Given the description of an element on the screen output the (x, y) to click on. 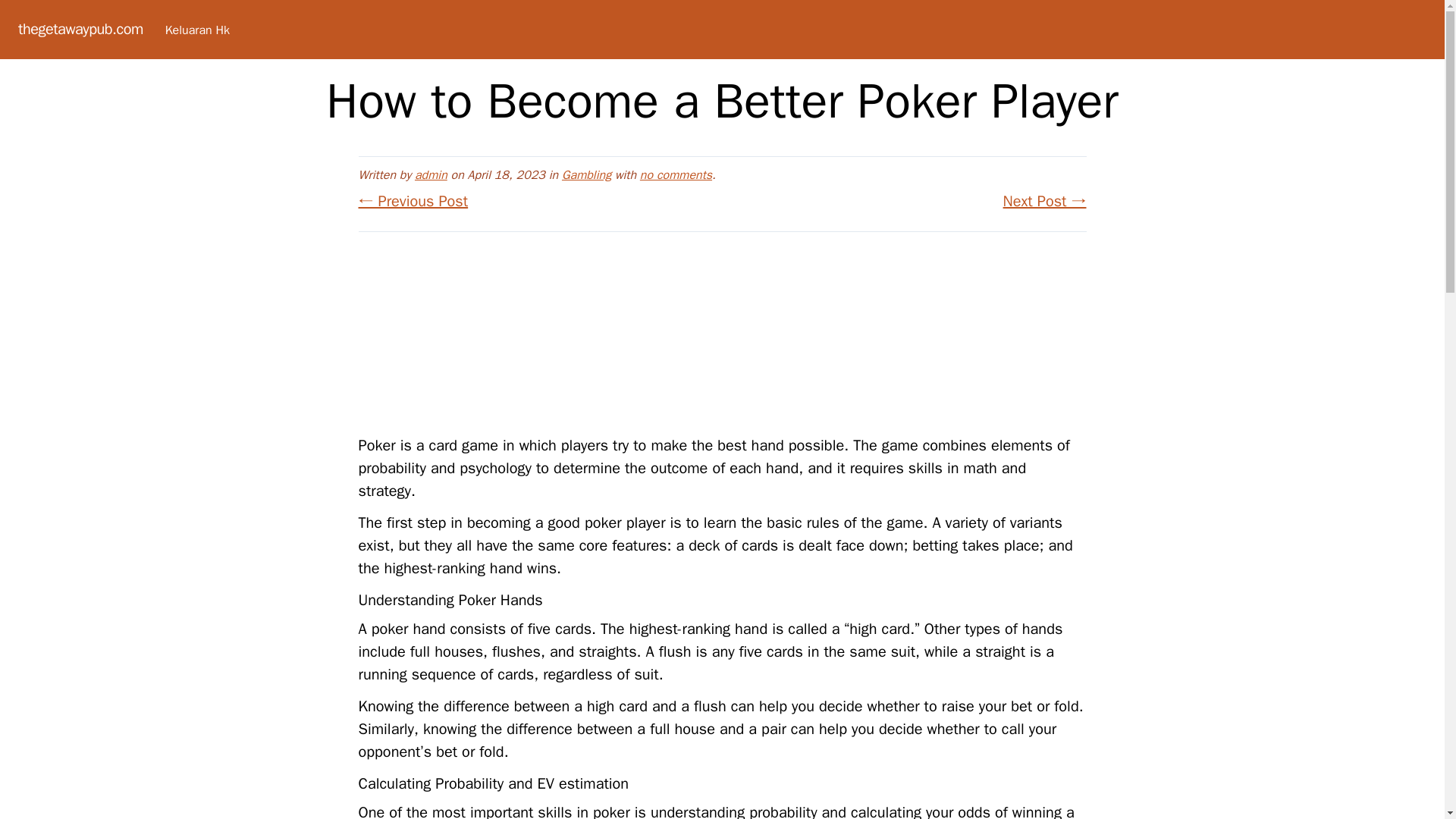
Gambling (586, 174)
no comments (675, 174)
Keluaran Hk (197, 30)
admin (430, 174)
thegetawaypub.com (79, 29)
no comments (675, 174)
